Given the description of an element on the screen output the (x, y) to click on. 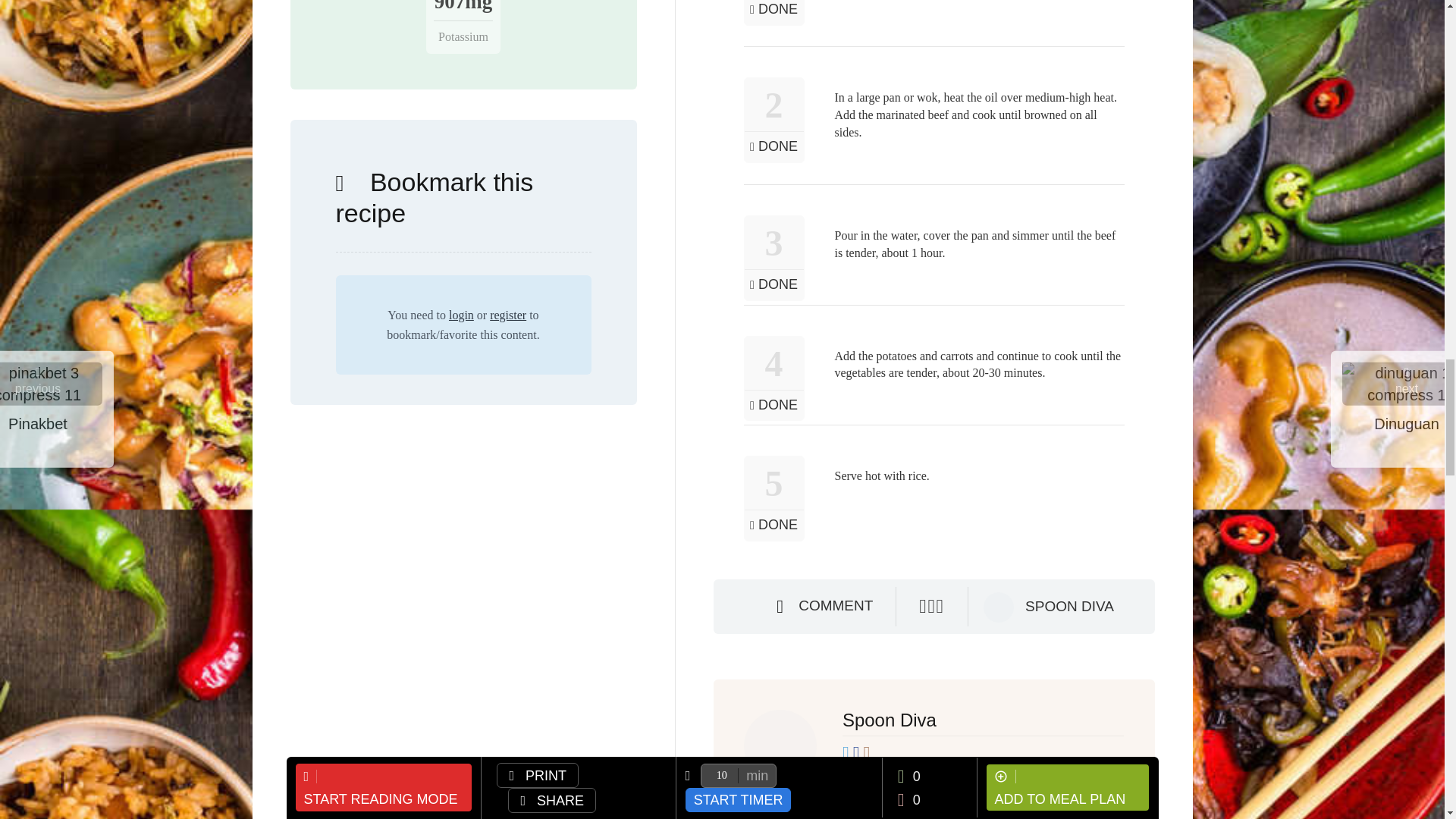
Posts by Spoon Diva (1069, 606)
